Given the description of an element on the screen output the (x, y) to click on. 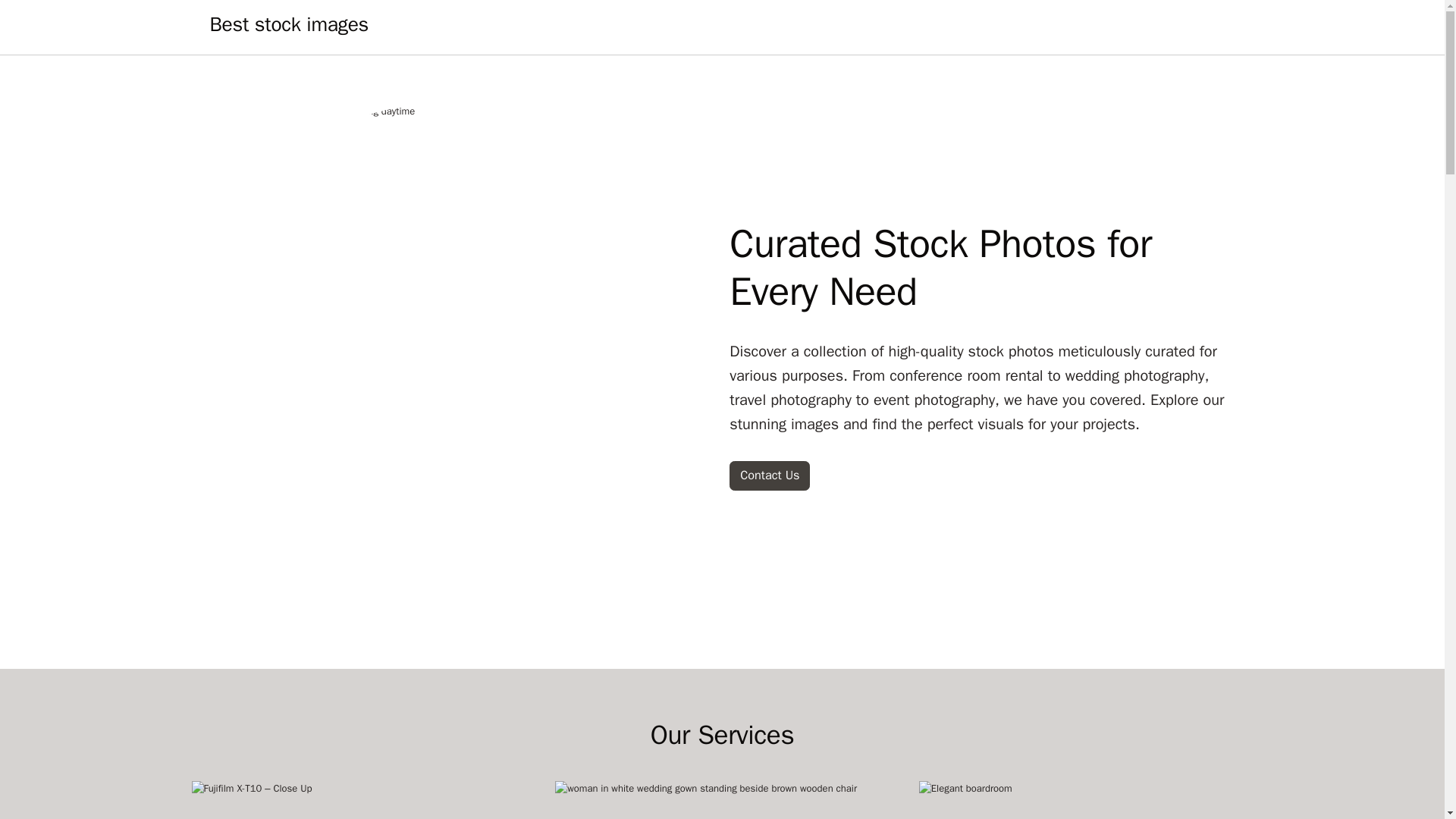
Best stock images (288, 27)
Contact Us (769, 475)
